Given the description of an element on the screen output the (x, y) to click on. 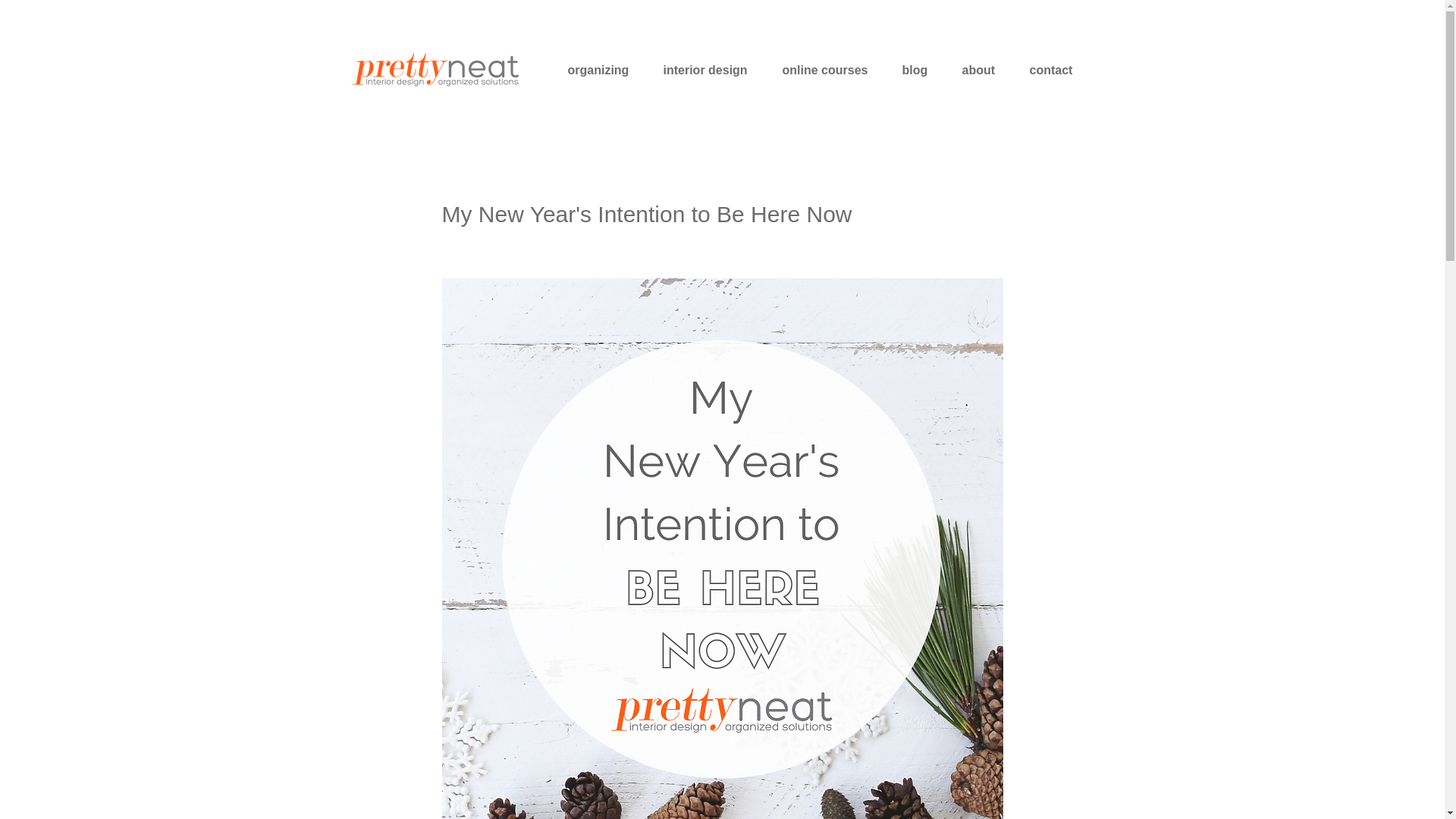
interior design (708, 69)
about (980, 69)
contact (1055, 69)
organizing (601, 69)
online courses (828, 69)
blog (918, 69)
